Given the description of an element on the screen output the (x, y) to click on. 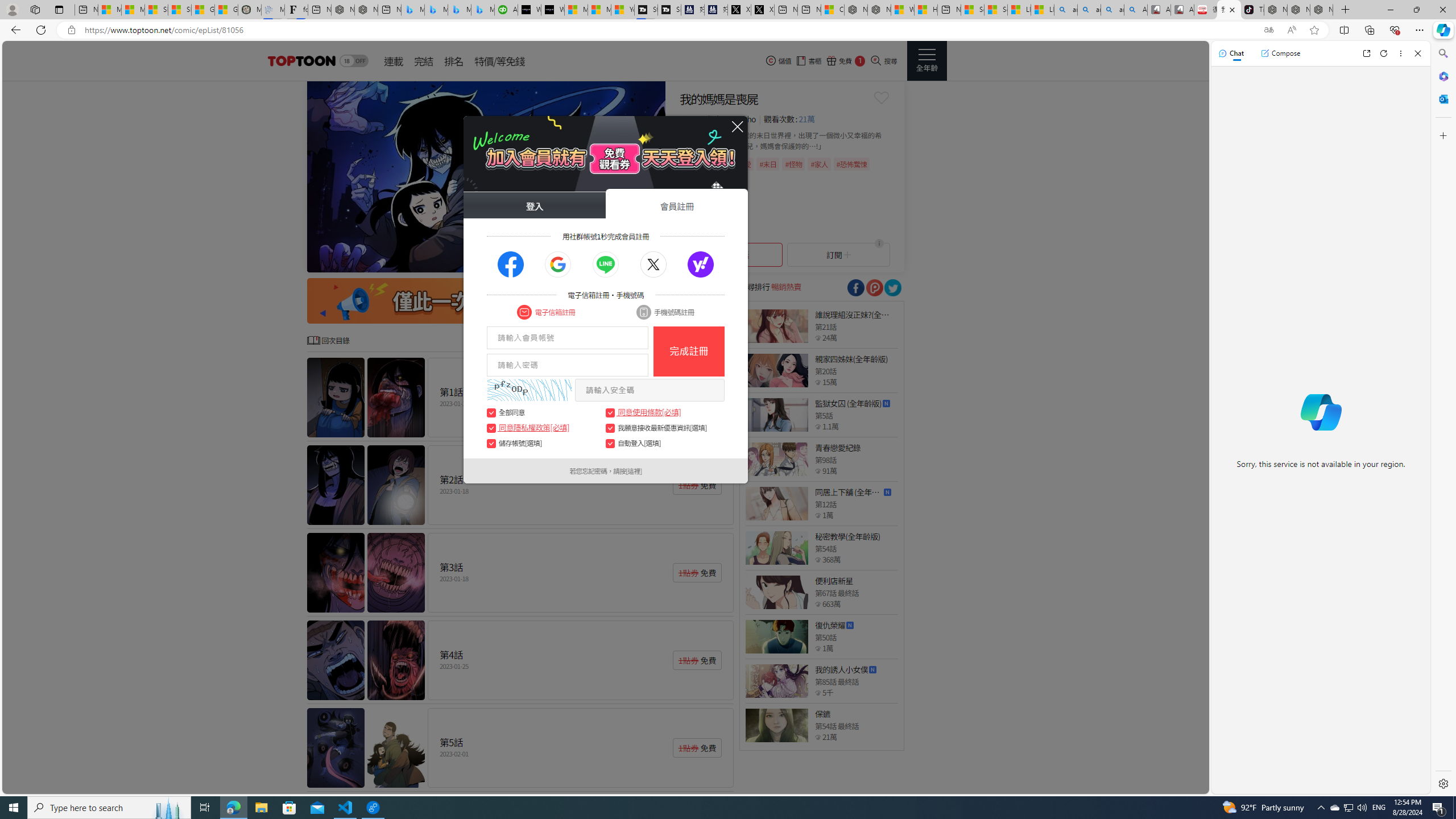
Settings (1442, 783)
Microsoft 365 (1442, 76)
Address and search bar (669, 29)
Manatee Mortality Statistics | FWC (249, 9)
